Given the description of an element on the screen output the (x, y) to click on. 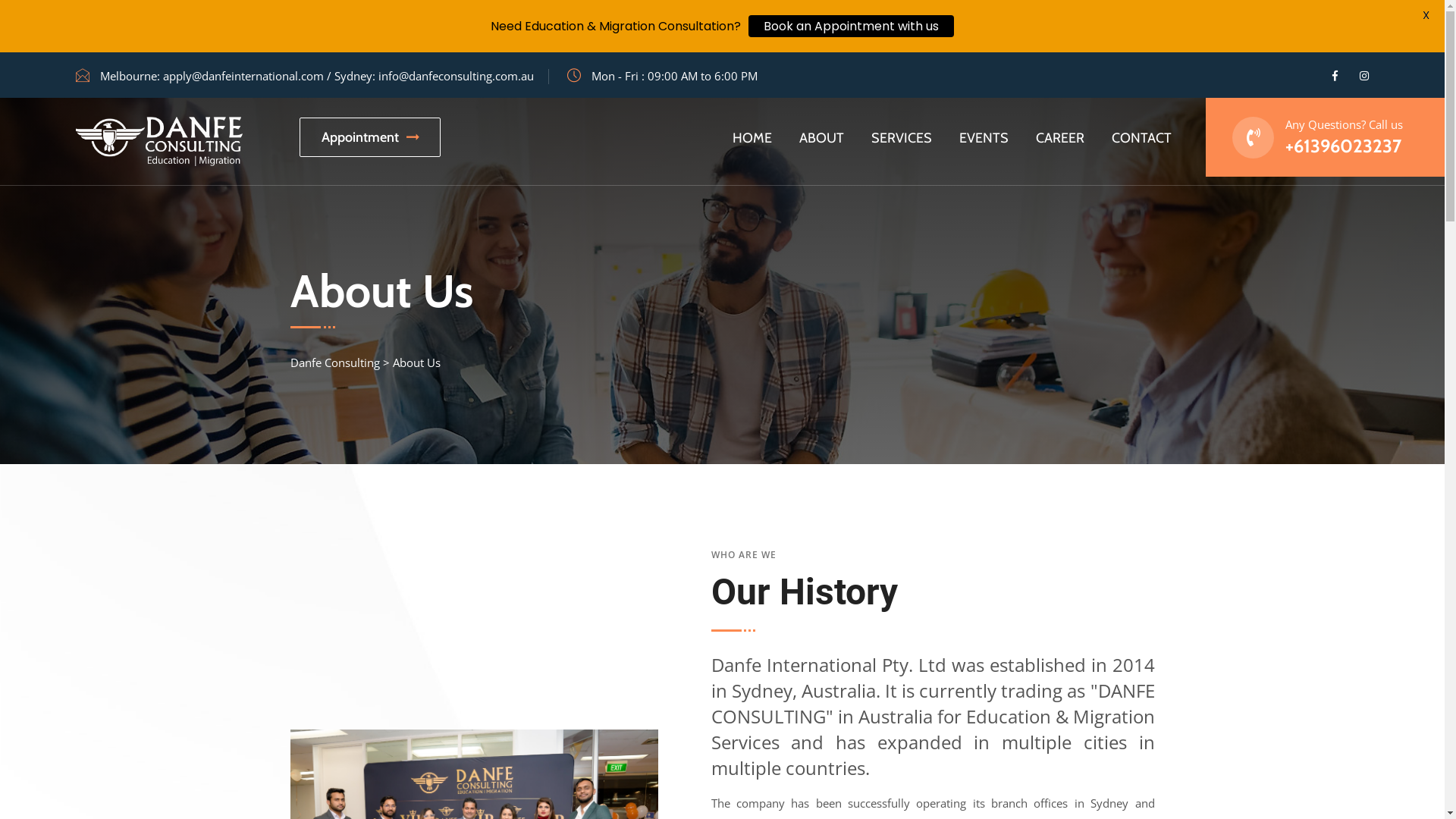
HOME Element type: text (751, 137)
Danfe Consulting Element type: text (334, 362)
CAREER Element type: text (1059, 137)
EVENTS Element type: text (983, 137)
SERVICES Element type: text (901, 137)
Book an Appointment with us Element type: text (850, 26)
Melbourne: apply@danfeinternational.com Element type: text (211, 75)
CONTACT Element type: text (1141, 137)
Appointment Element type: text (369, 136)
ABOUT Element type: text (821, 137)
+61396023237 Element type: text (1343, 145)
Sydney: info@danfeconsulting.com.au Element type: text (433, 75)
